Given the description of an element on the screen output the (x, y) to click on. 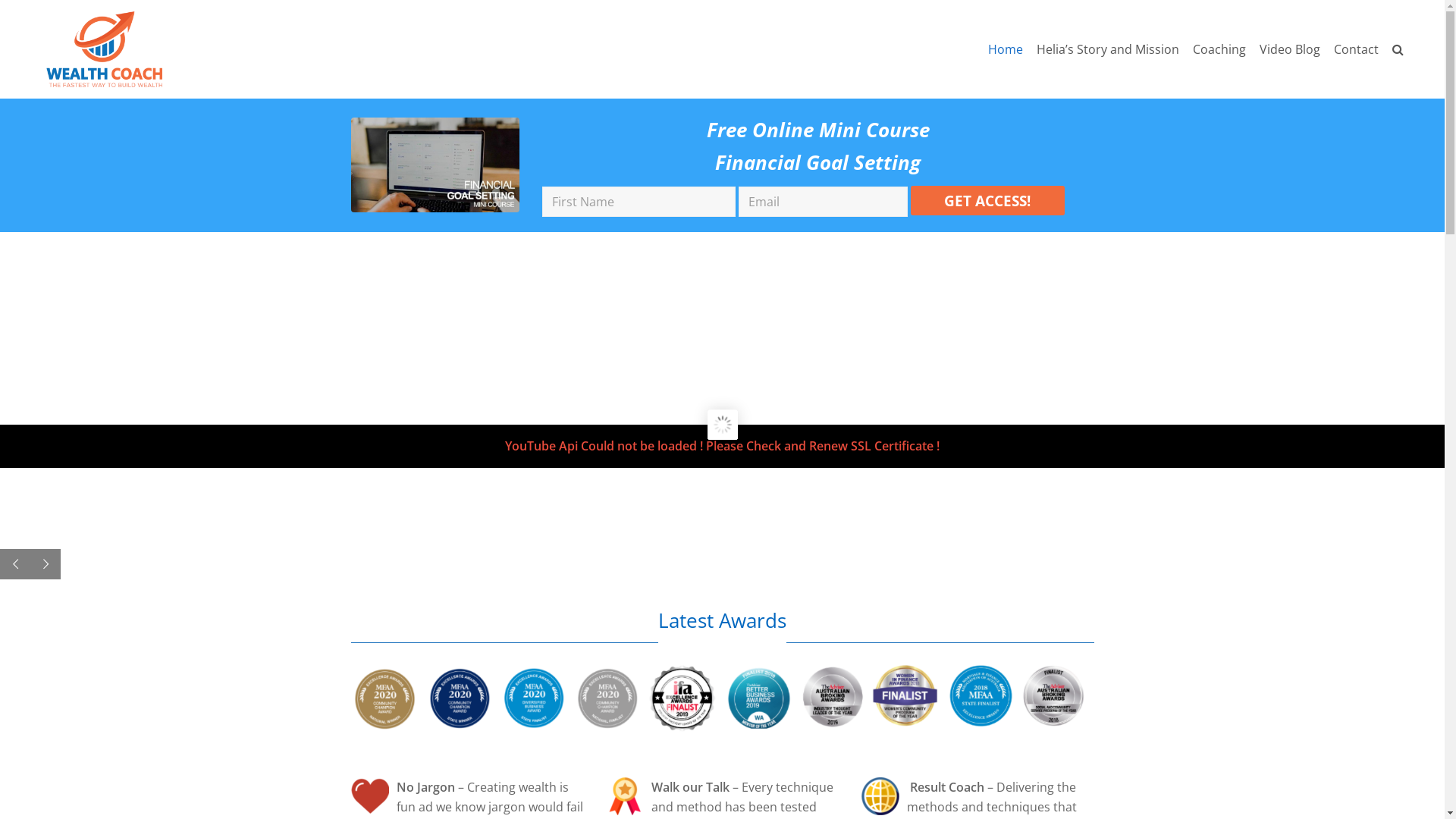
Contact Element type: text (1356, 49)
Video Blog Element type: text (1289, 49)
TQZeC1ONScGrvsBY3ow2_file Element type: hover (434, 164)
Home Element type: text (1005, 49)
Coaching Element type: text (1219, 49)
GET ACCESS! Element type: text (987, 200)
Helia Singh Element type: hover (103, 47)
